Given the description of an element on the screen output the (x, y) to click on. 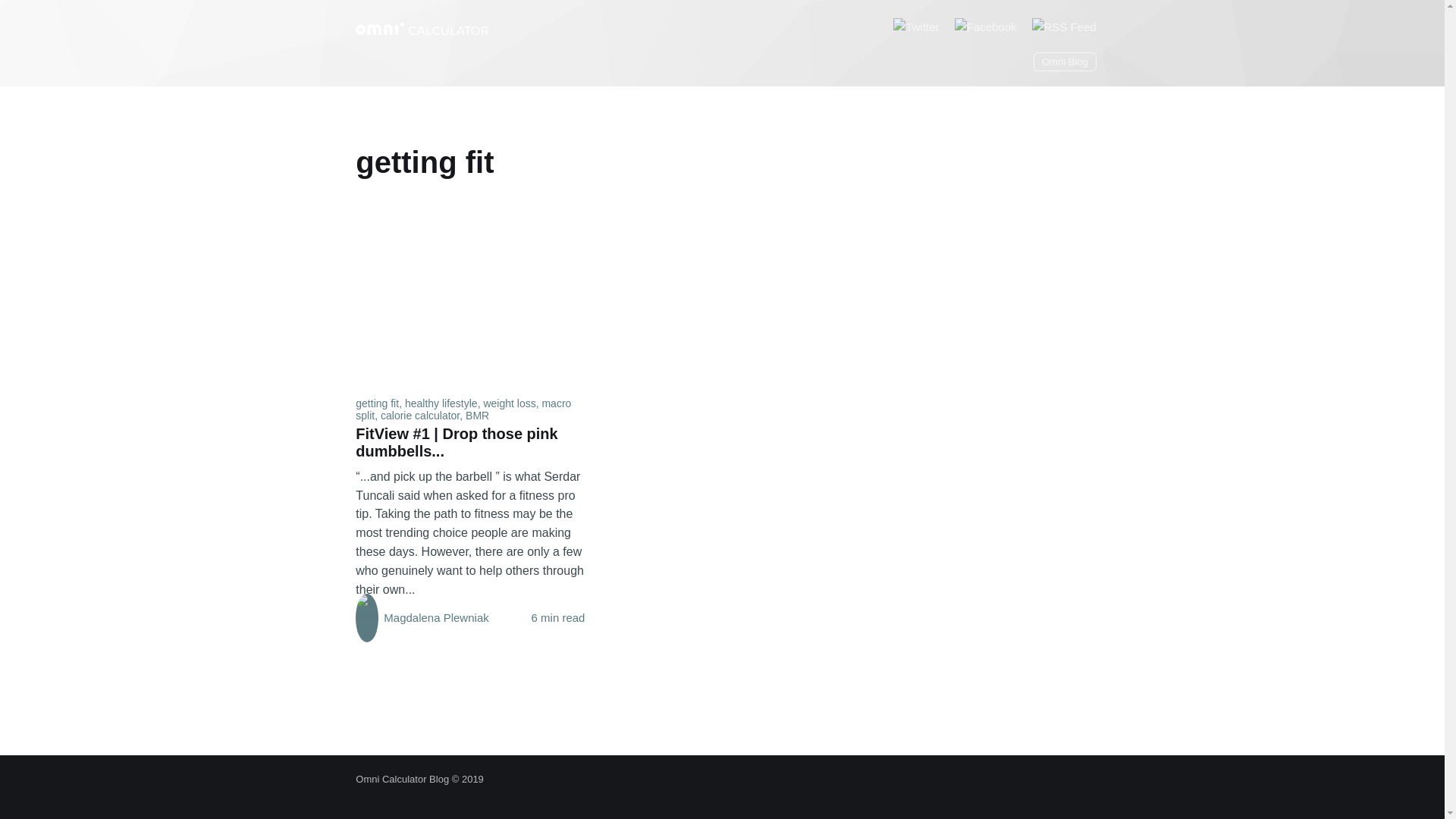
Magdalena Plewniak (421, 617)
Omni Calculator logo (421, 27)
calorie calculator (420, 415)
getting fit (376, 403)
Omni Blog (1064, 61)
Omni Calculator Blog (401, 778)
BMR (477, 415)
healthy lifestyle (440, 403)
macro split (462, 409)
Omni Calculator logo (421, 28)
weight loss (509, 403)
